Given the description of an element on the screen output the (x, y) to click on. 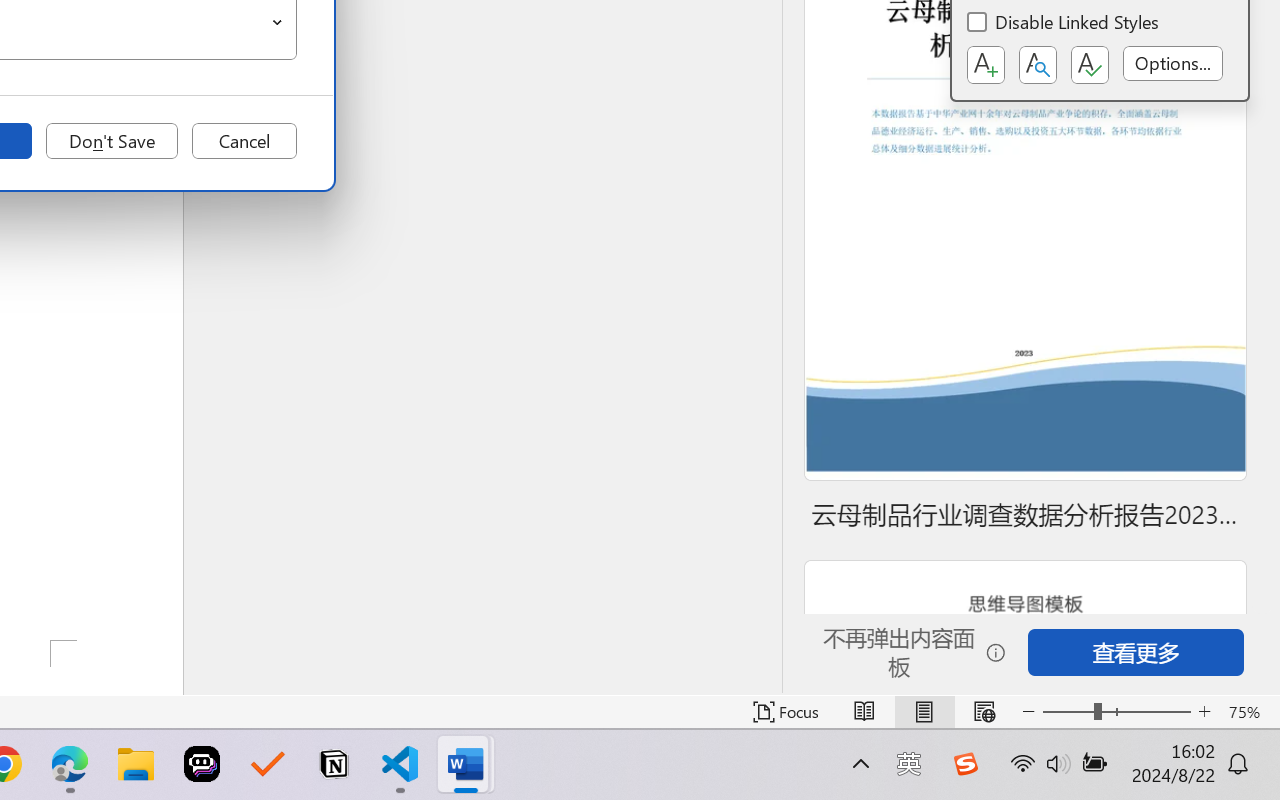
Class: NetUIButton (1089, 65)
Read Mode (864, 712)
Poe (201, 764)
Web Layout (984, 712)
Don't Save (111, 141)
Zoom (1116, 712)
Zoom In (1204, 712)
Focus  (786, 712)
Cancel (244, 141)
